Given the description of an element on the screen output the (x, y) to click on. 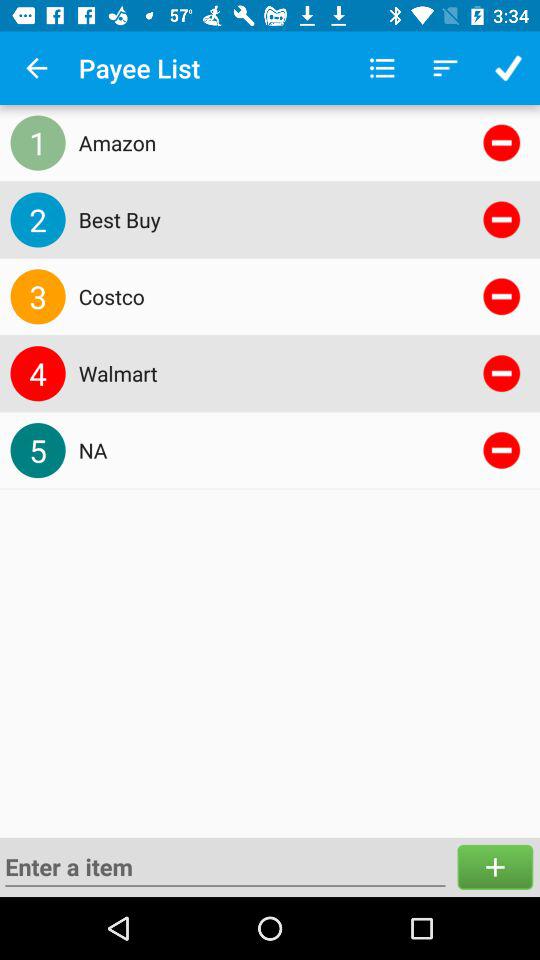
remove (501, 142)
